Given the description of an element on the screen output the (x, y) to click on. 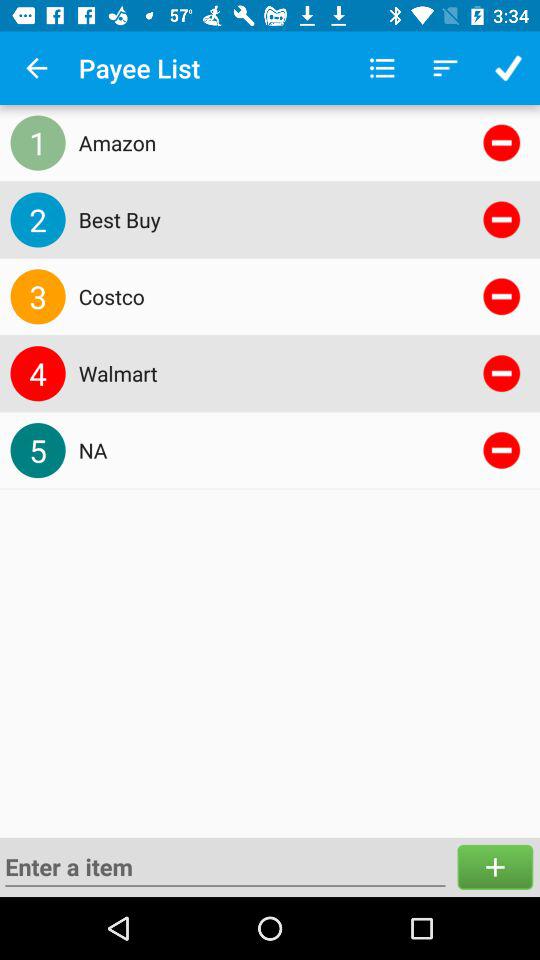
remove (501, 142)
